Given the description of an element on the screen output the (x, y) to click on. 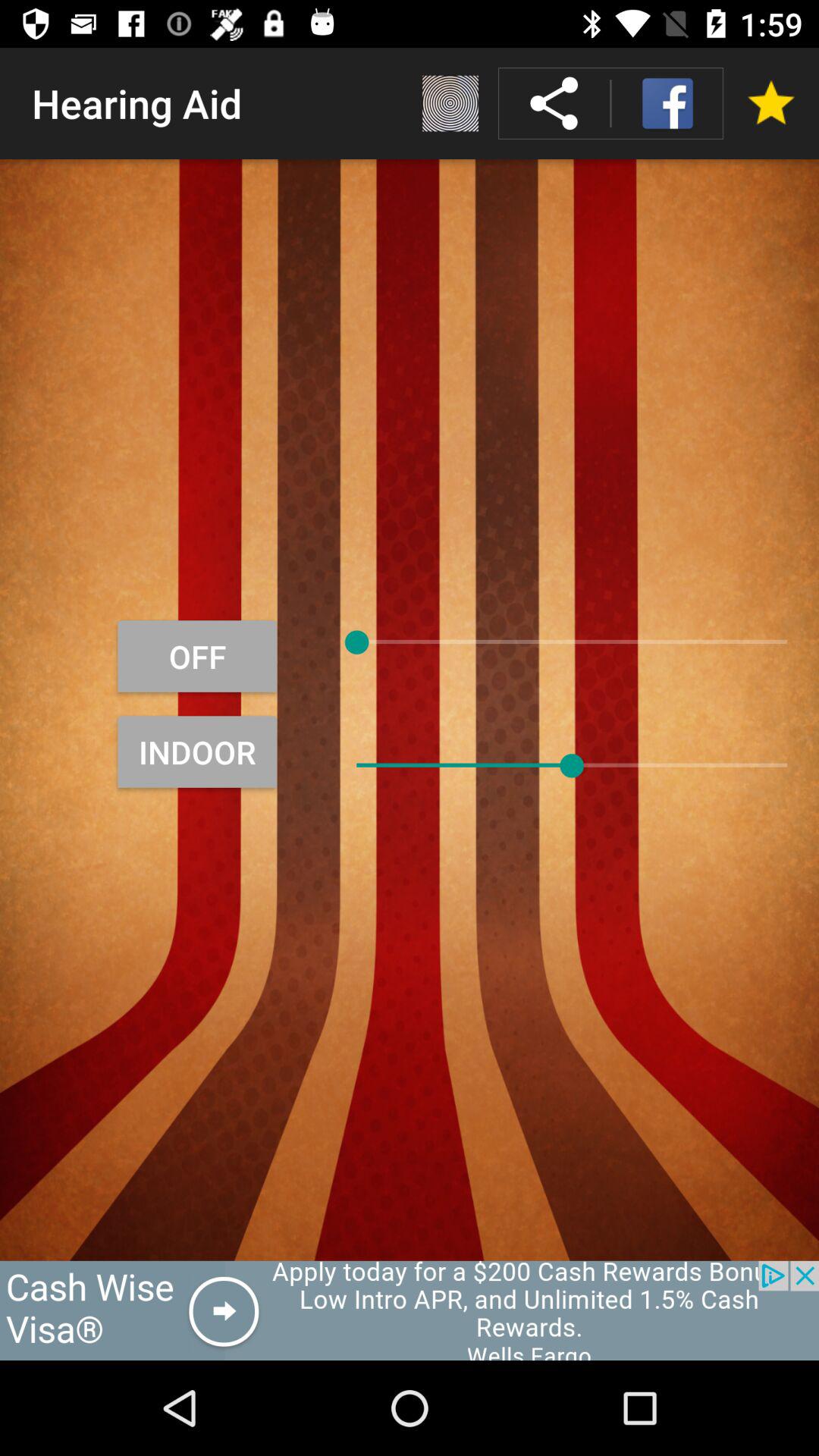
click advertisement (409, 1310)
